Given the description of an element on the screen output the (x, y) to click on. 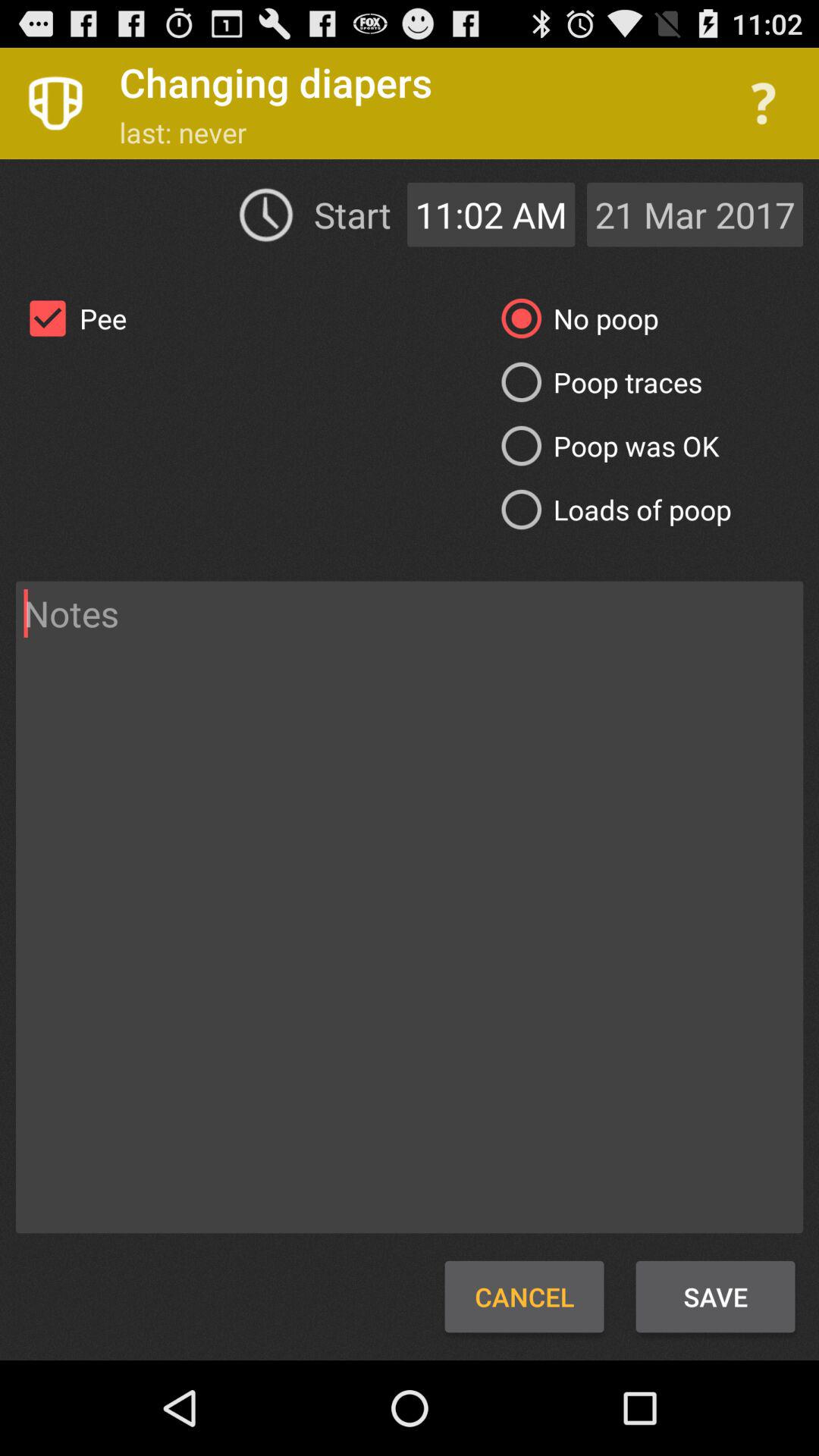
launch icon to the right of the 11:02 am icon (694, 214)
